Given the description of an element on the screen output the (x, y) to click on. 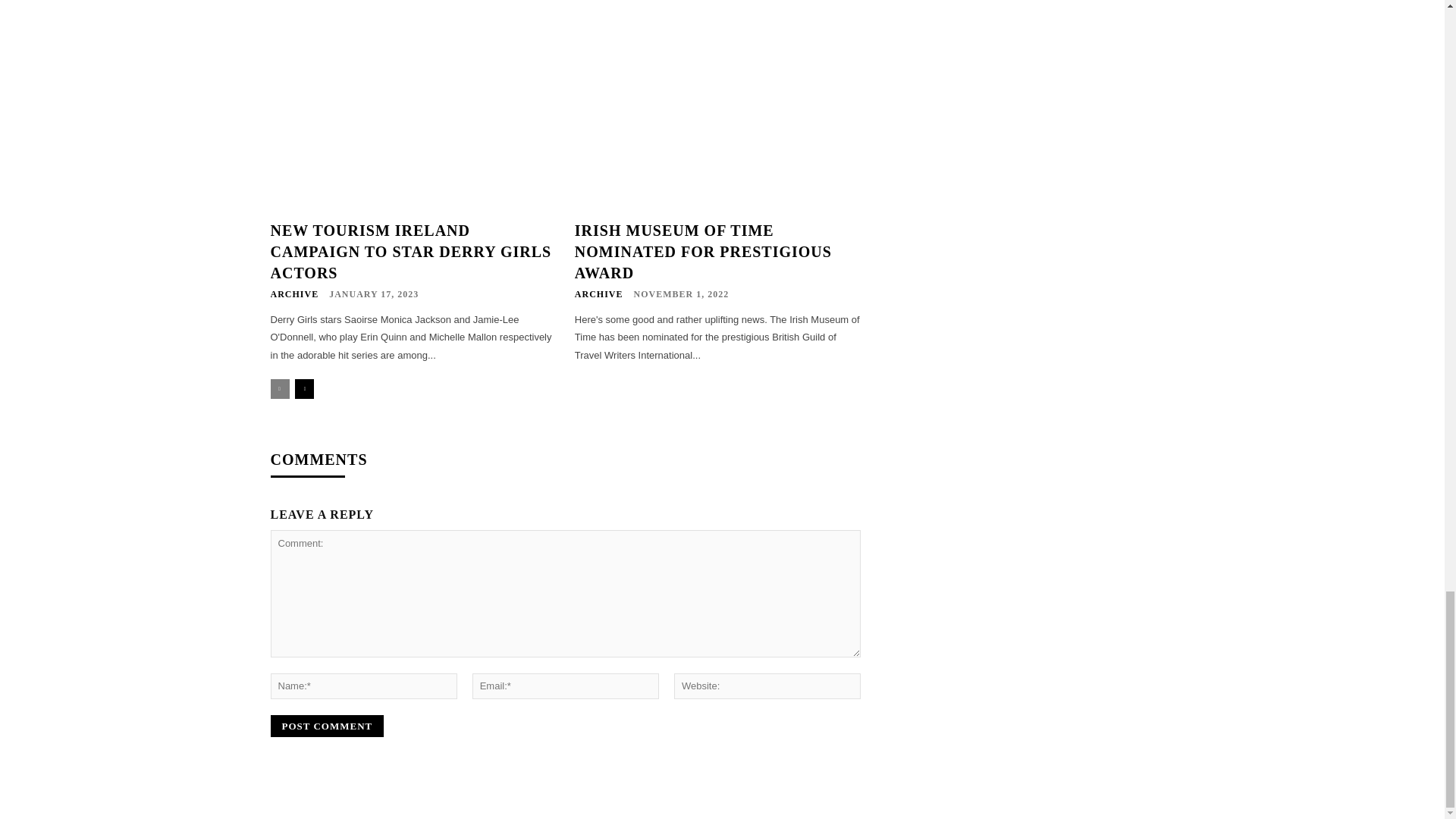
Post Comment (326, 725)
